Given the description of an element on the screen output the (x, y) to click on. 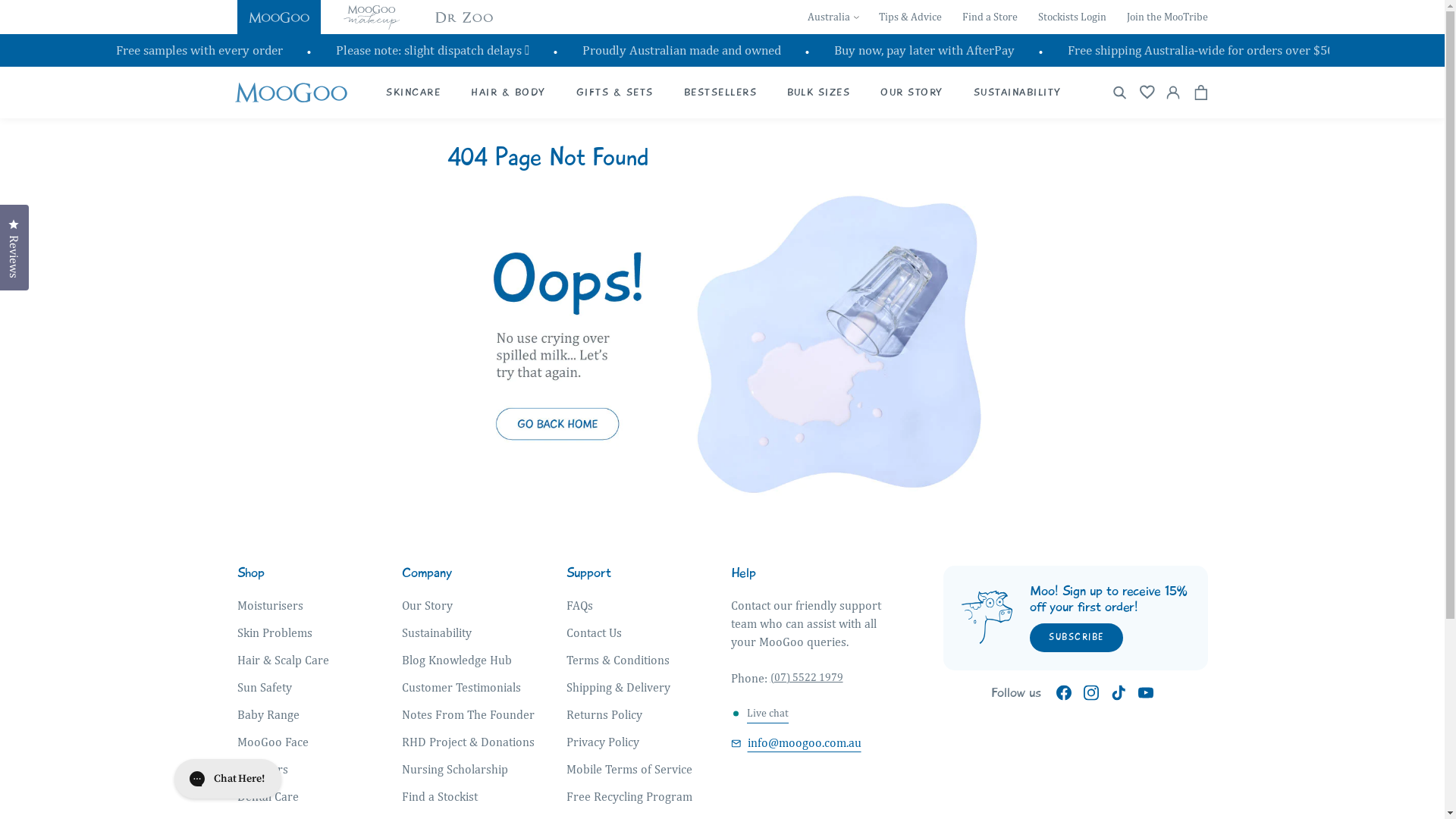
Customer Testimonials Element type: text (460, 687)
TikTok Element type: text (1118, 692)
Mobile Terms of Service Element type: text (629, 769)
Sun Safety Element type: text (263, 687)
OUR STORY Element type: text (911, 92)
(07) 5522 1979 Element type: text (806, 677)
Our Story Element type: text (426, 605)
Terms & Conditions Element type: text (617, 660)
Skin Problems Element type: text (273, 633)
Find a Store Element type: text (988, 17)
Proudly Australian made and owned Element type: text (681, 50)
Find a Stockist Element type: text (439, 796)
Privacy Policy Element type: text (602, 742)
Buy now, pay later with AfterPay Element type: text (924, 50)
Free shipping Australia-wide for orders over $50 Element type: text (1200, 50)
SUSTAINABILITY Element type: text (1017, 92)
Log in Element type: text (1173, 92)
MooGoo Face Element type: text (271, 742)
Cleansers Element type: text (261, 769)
Free samples with every order Element type: text (198, 50)
Tips & Advice Element type: text (909, 17)
Australia Element type: text (831, 17)
Join the MooTribe Element type: text (1167, 17)
HAIR & BODY Element type: text (508, 92)
YouTube Element type: text (1145, 692)
Facebook Element type: text (1063, 692)
SKINCARE Element type: text (412, 92)
Free Recycling Program Element type: text (629, 796)
Instagram Element type: text (1090, 692)
BESTSELLERS Element type: text (720, 92)
Hair & Scalp Care Element type: text (282, 660)
Notes From The Founder Element type: text (467, 715)
Cart Element type: text (1201, 92)
Contact Us Element type: text (593, 633)
Returns Policy Element type: text (604, 715)
Shipping & Delivery Element type: text (618, 687)
Nursing Scholarship Element type: text (454, 769)
SUBSCRIBE Element type: text (1076, 637)
Live chat Element type: text (767, 713)
Blog Knowledge Hub Element type: text (456, 660)
FAQs Element type: text (579, 605)
MooGoo Skincare Home Page Element type: hover (722, 502)
Stockists Login Element type: text (1071, 17)
Moisturisers Element type: text (269, 605)
Live chat Element type: text (767, 713)
BULK SIZES Element type: text (818, 92)
Sustainability Element type: text (436, 633)
info@moogoo.com.au Element type: text (796, 743)
GIFTS & SETS Element type: text (614, 92)
Baby Range Element type: text (267, 715)
Dental Care Element type: text (267, 796)
RHD Project & Donations Element type: text (467, 742)
Gorgias live chat messenger Element type: hover (227, 778)
